Given the description of an element on the screen output the (x, y) to click on. 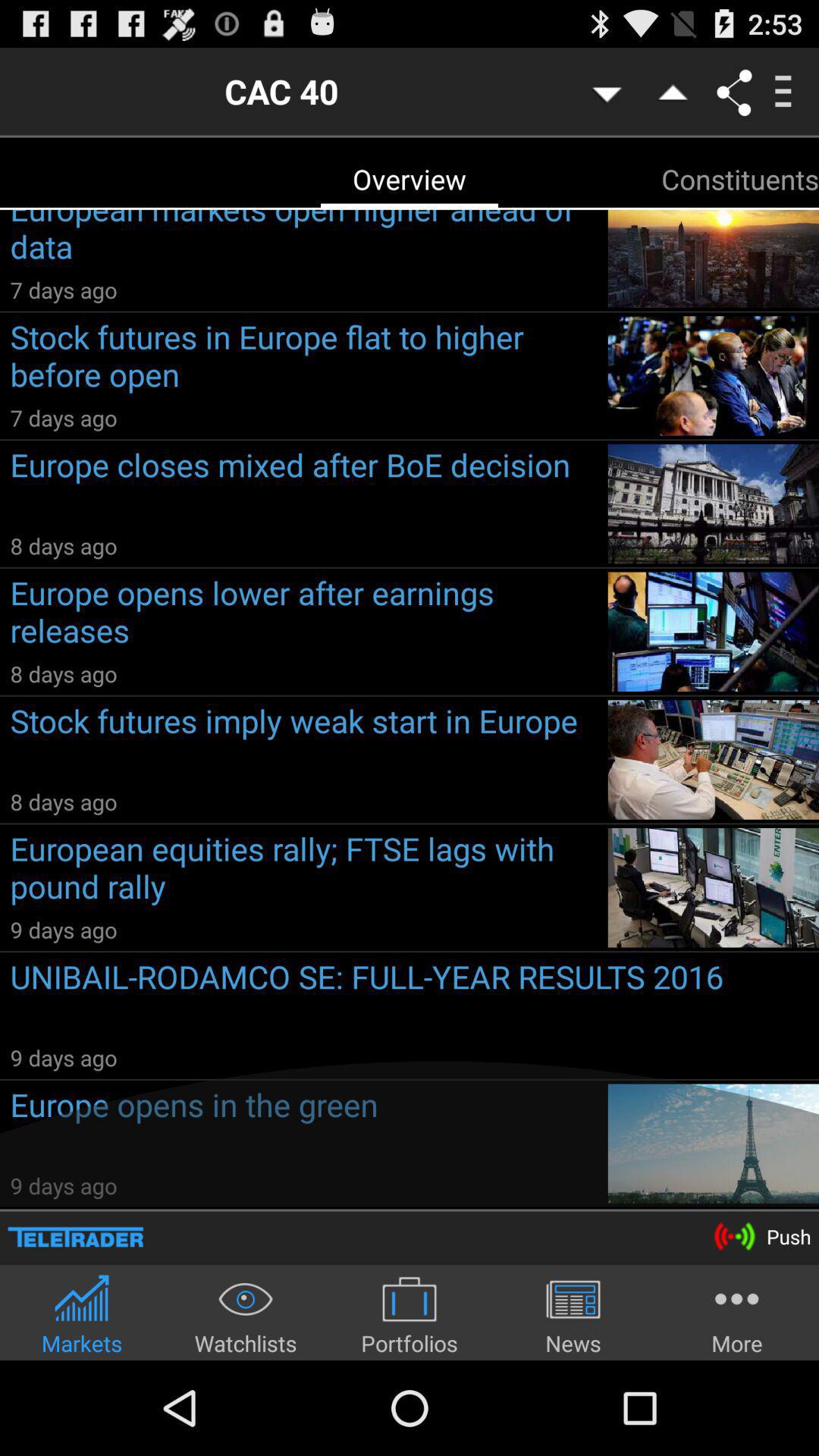
press the icon above 9 days ago (414, 998)
